Given the description of an element on the screen output the (x, y) to click on. 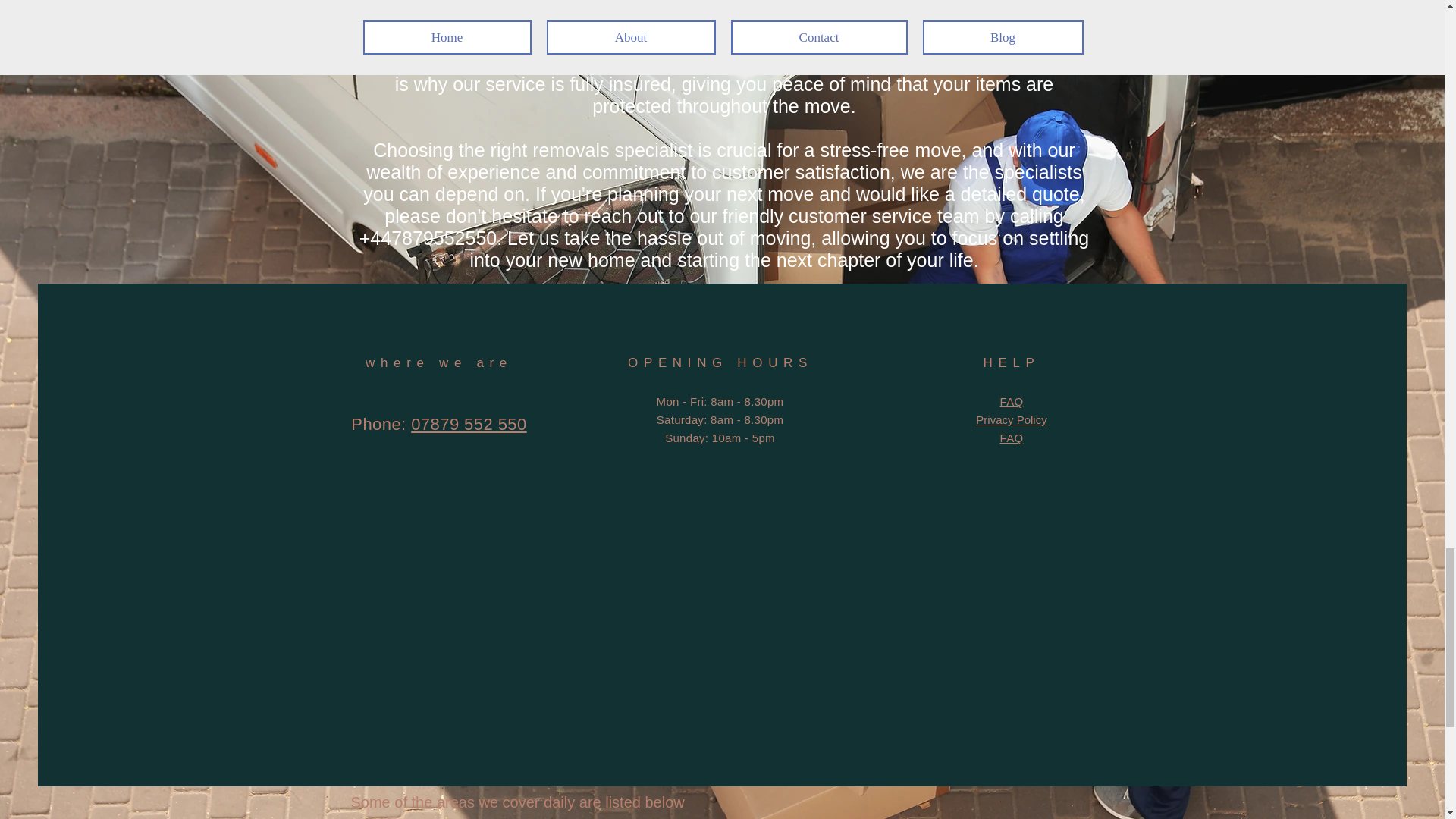
Privacy Policy (1010, 419)
FAQ (1011, 400)
FAQ (1011, 437)
07879 552 550 (468, 424)
